Given the description of an element on the screen output the (x, y) to click on. 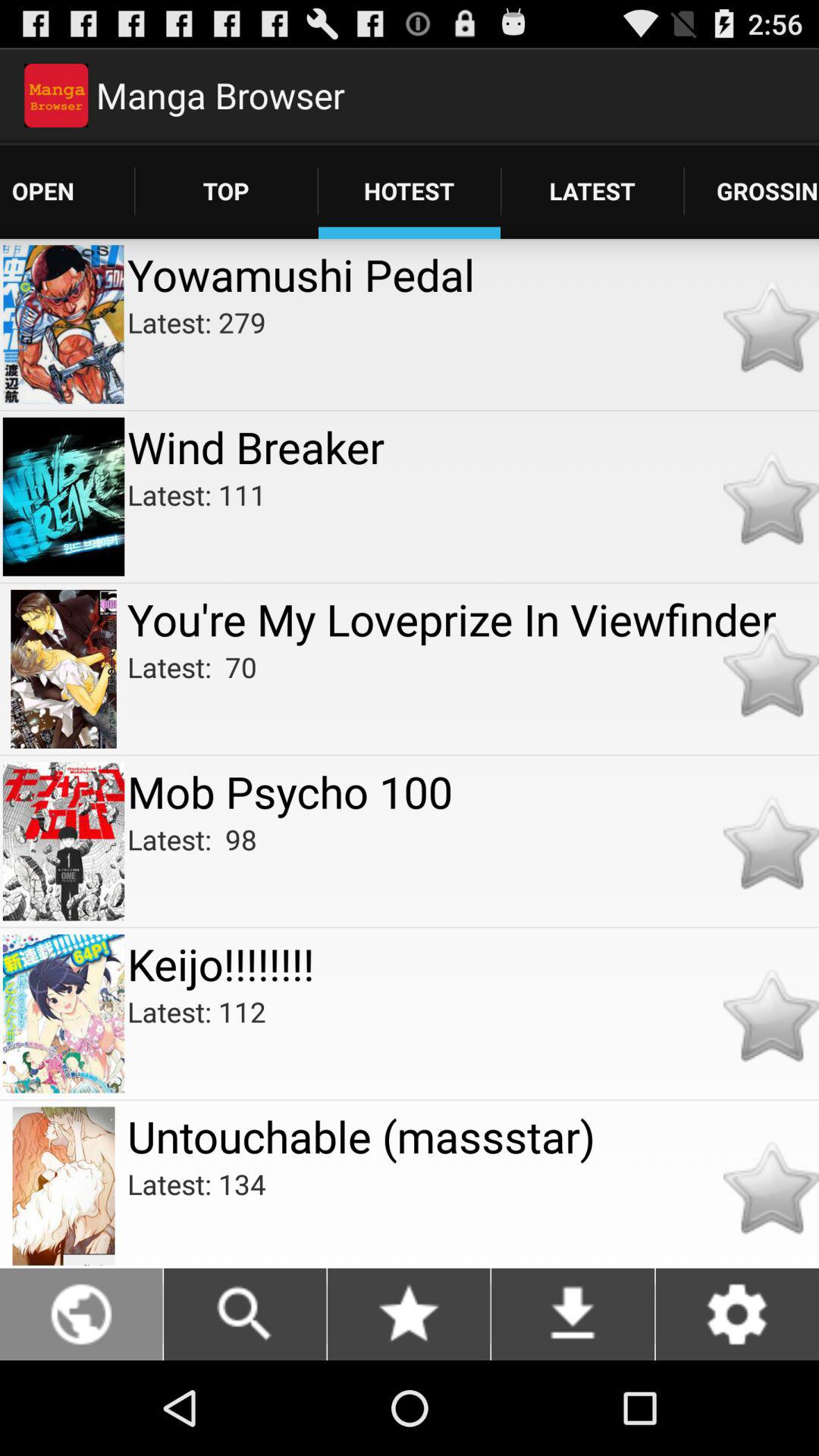
choose icon above the latest: 111 item (473, 446)
